Given the description of an element on the screen output the (x, y) to click on. 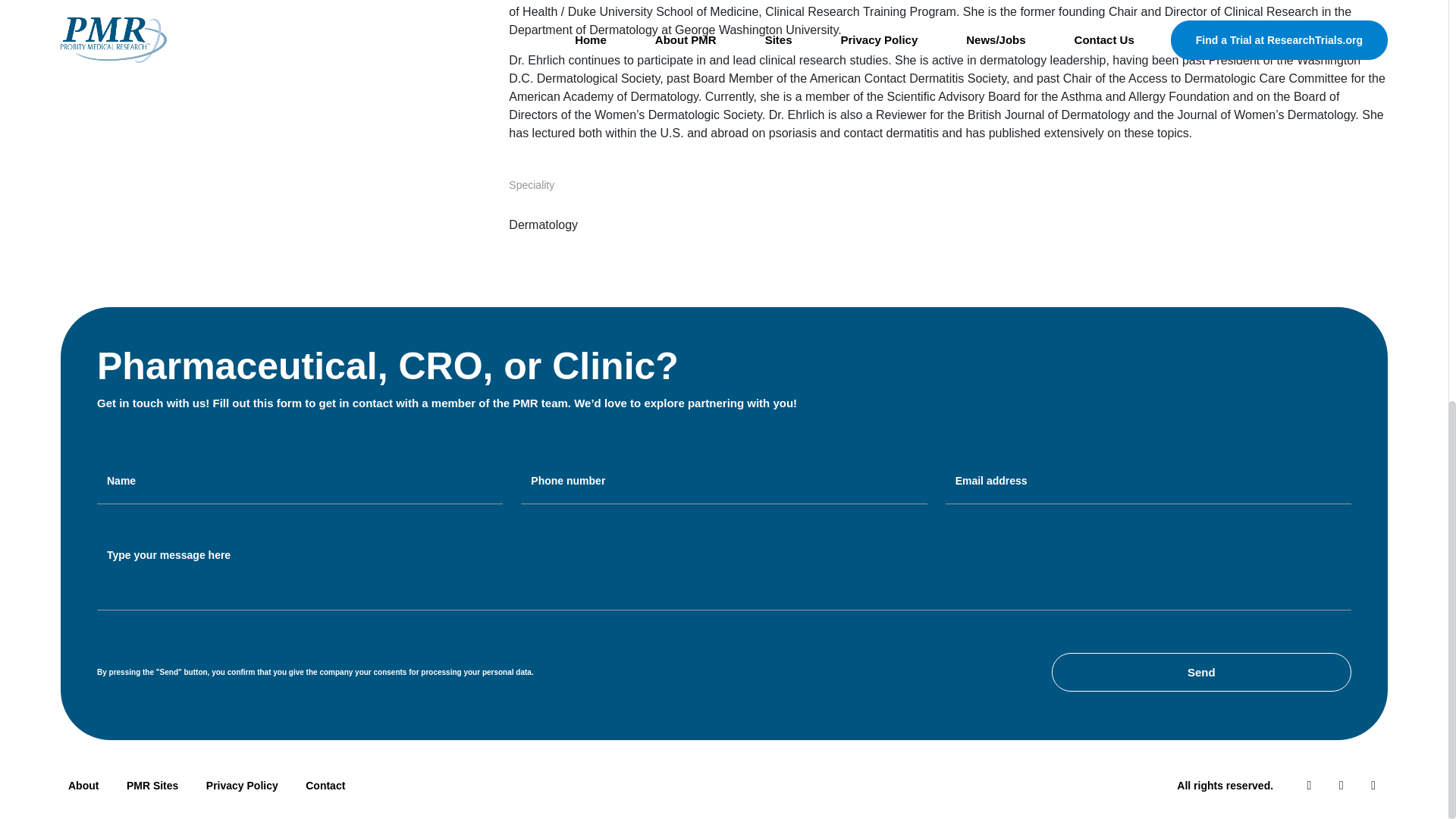
About (89, 785)
Send (1201, 671)
Send (1201, 671)
PMR Sites (152, 785)
Contact (325, 785)
Privacy Policy (241, 785)
